Given the description of an element on the screen output the (x, y) to click on. 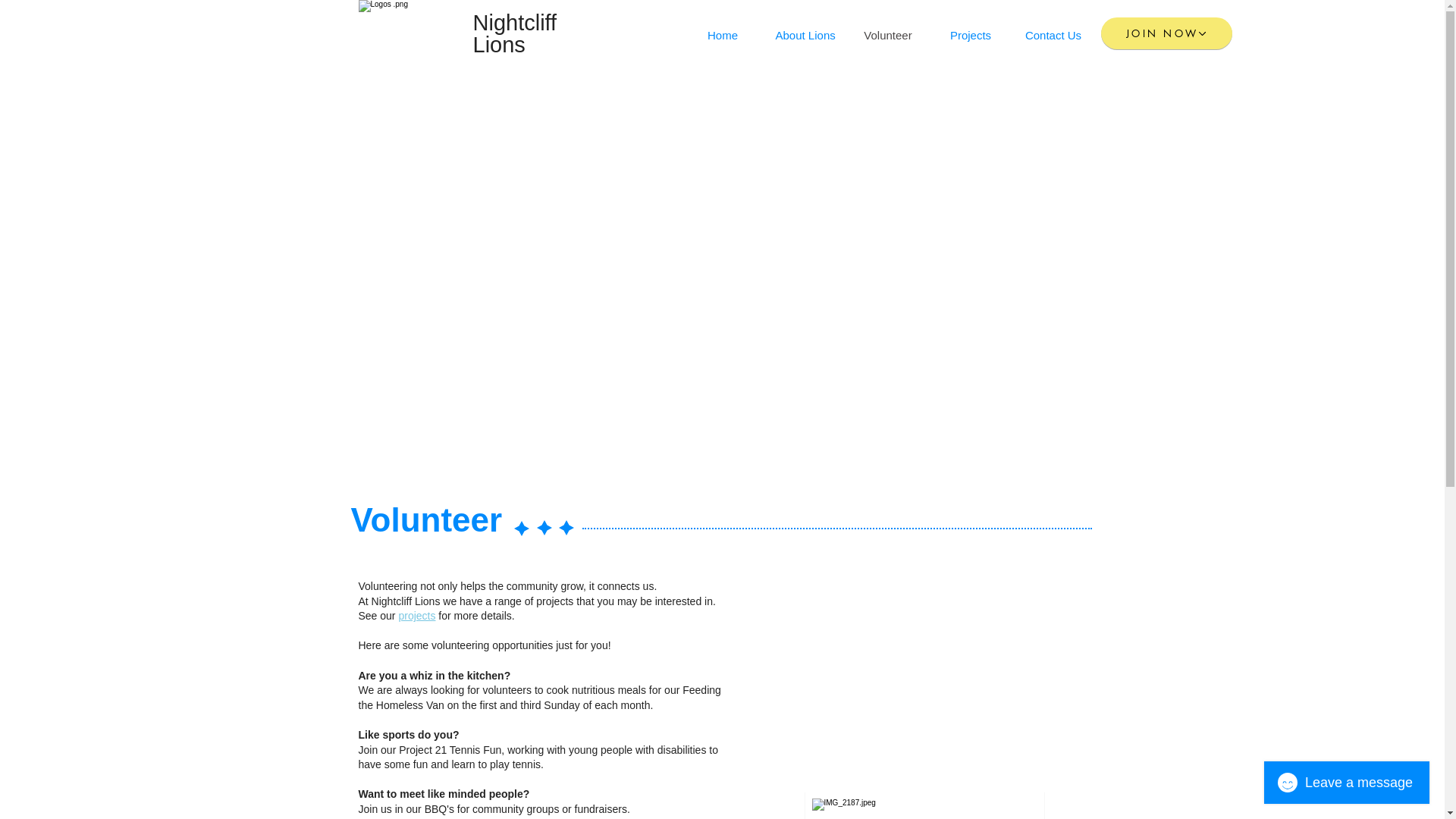
Volunteer Element type: text (887, 35)
projects Element type: text (416, 615)
JOIN NOW Element type: text (1166, 33)
About Lions Element type: text (805, 35)
Home Element type: text (721, 35)
Projects Element type: text (970, 35)
Contact Us Element type: text (1052, 35)
